Given the description of an element on the screen output the (x, y) to click on. 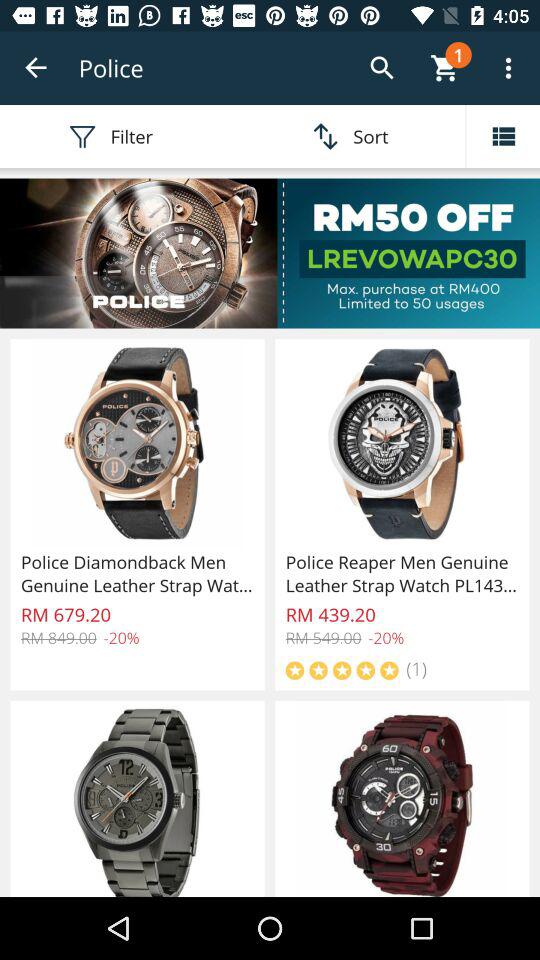
go back (36, 68)
